Given the description of an element on the screen output the (x, y) to click on. 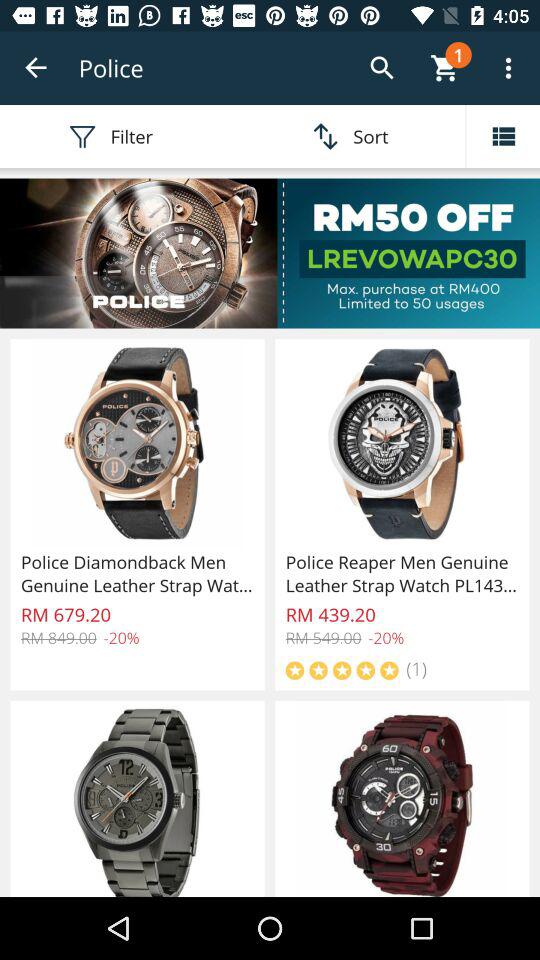
go back (36, 68)
